Given the description of an element on the screen output the (x, y) to click on. 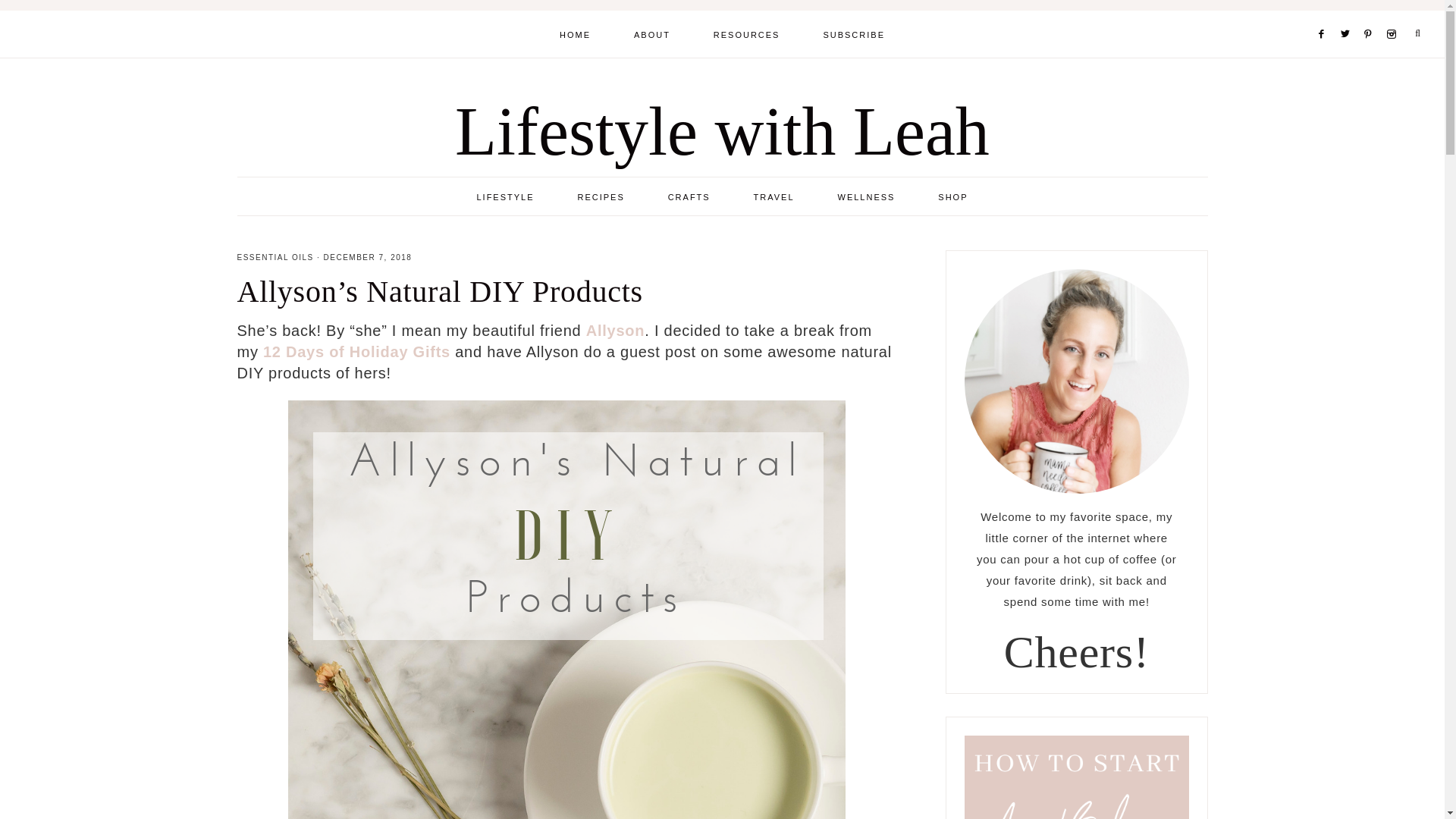
Instagram (1393, 14)
HOME (575, 33)
ABOUT (652, 33)
LIFESTYLE (505, 195)
SUBSCRIBE (853, 33)
RECIPES (600, 195)
RESOURCES (746, 33)
Pinterest (1371, 14)
Facebook (1324, 14)
CRAFTS (688, 195)
